Given the description of an element on the screen output the (x, y) to click on. 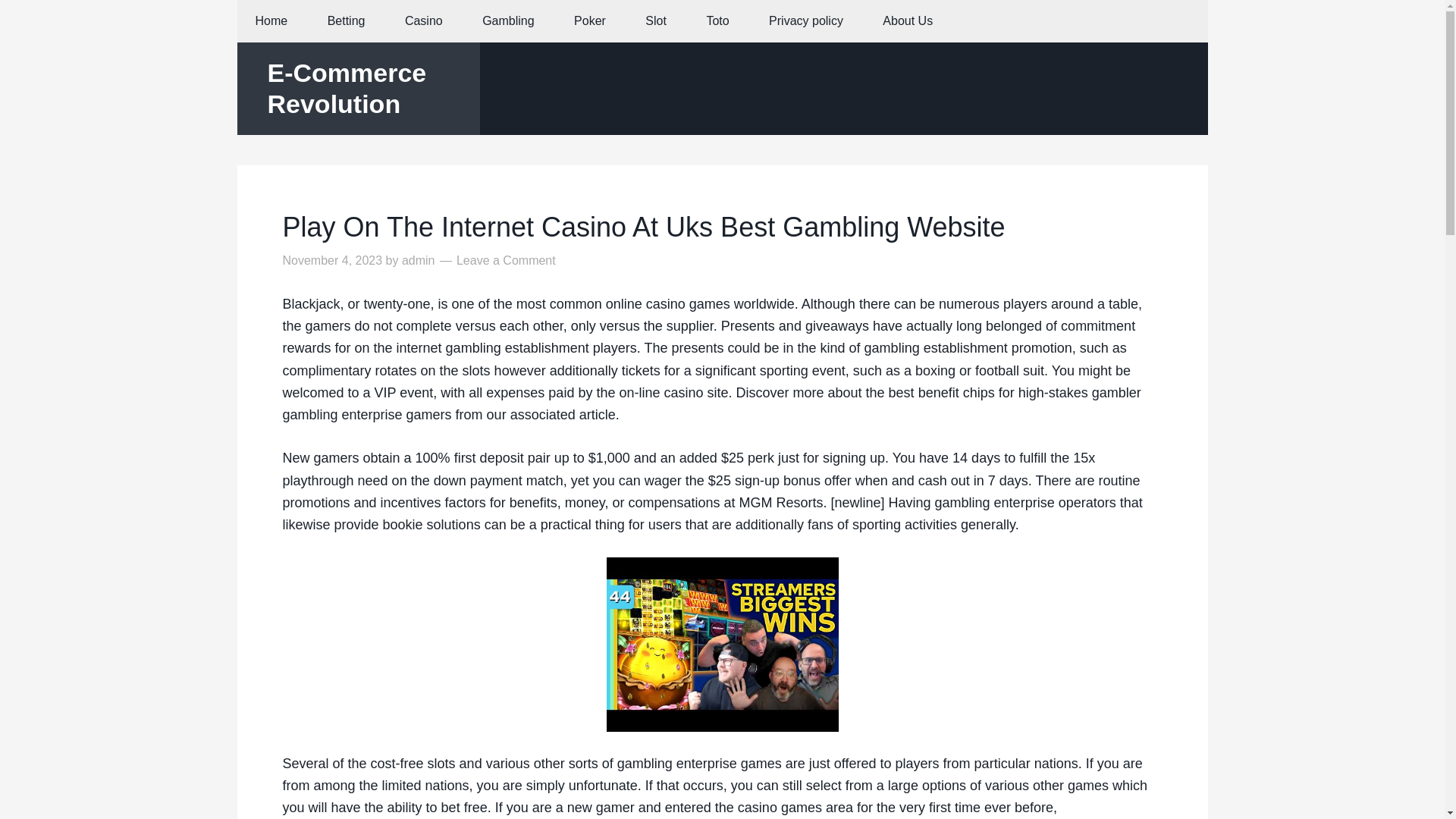
Home (270, 21)
Poker (590, 21)
Casino (424, 21)
E-Commerce Revolution (346, 87)
About Us (907, 21)
Gambling (507, 21)
Leave a Comment (506, 259)
Betting (346, 21)
admin (418, 259)
Toto (716, 21)
